Given the description of an element on the screen output the (x, y) to click on. 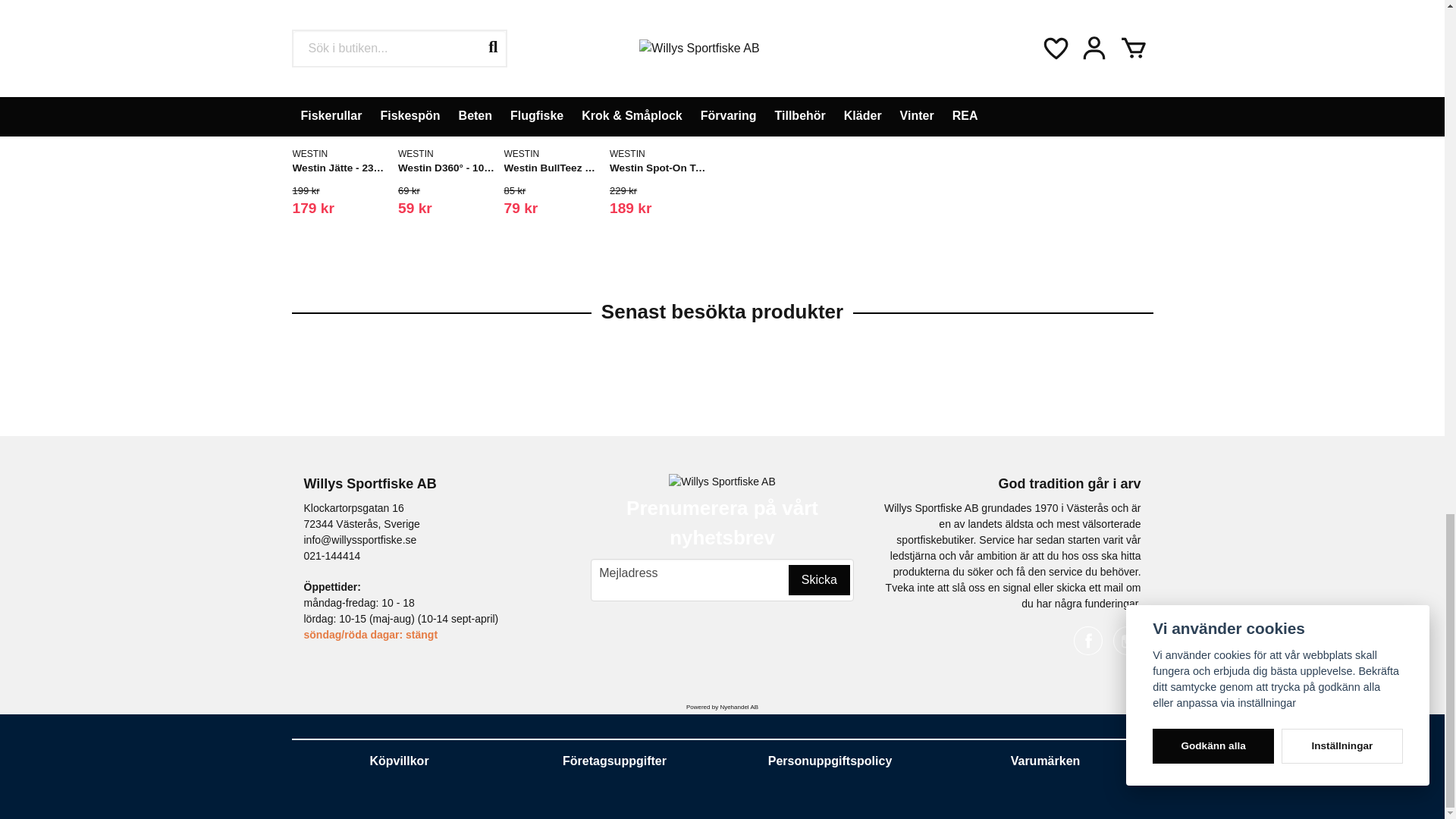
frontend.favorites.add (313, 45)
frontend.favorites.add (419, 45)
Westin BullTeez Curltail - 21cm (551, 73)
frontend.favorites.add (524, 45)
